Given the description of an element on the screen output the (x, y) to click on. 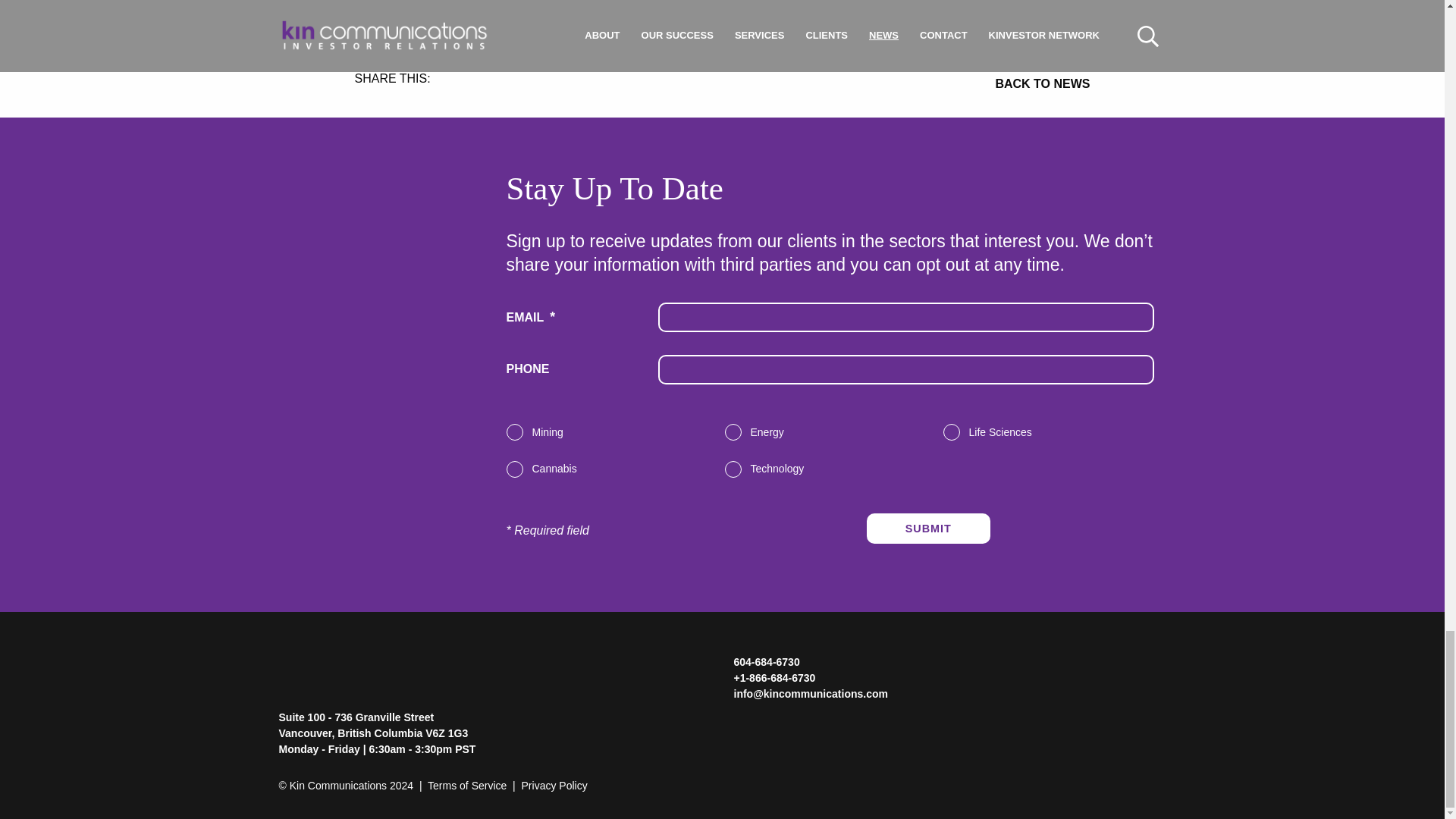
Terms of Service (467, 785)
Privacy Policy (554, 785)
Submit (928, 528)
Page 2 (722, 18)
  BACK TO NEWS (905, 84)
Submit (928, 528)
